Given the description of an element on the screen output the (x, y) to click on. 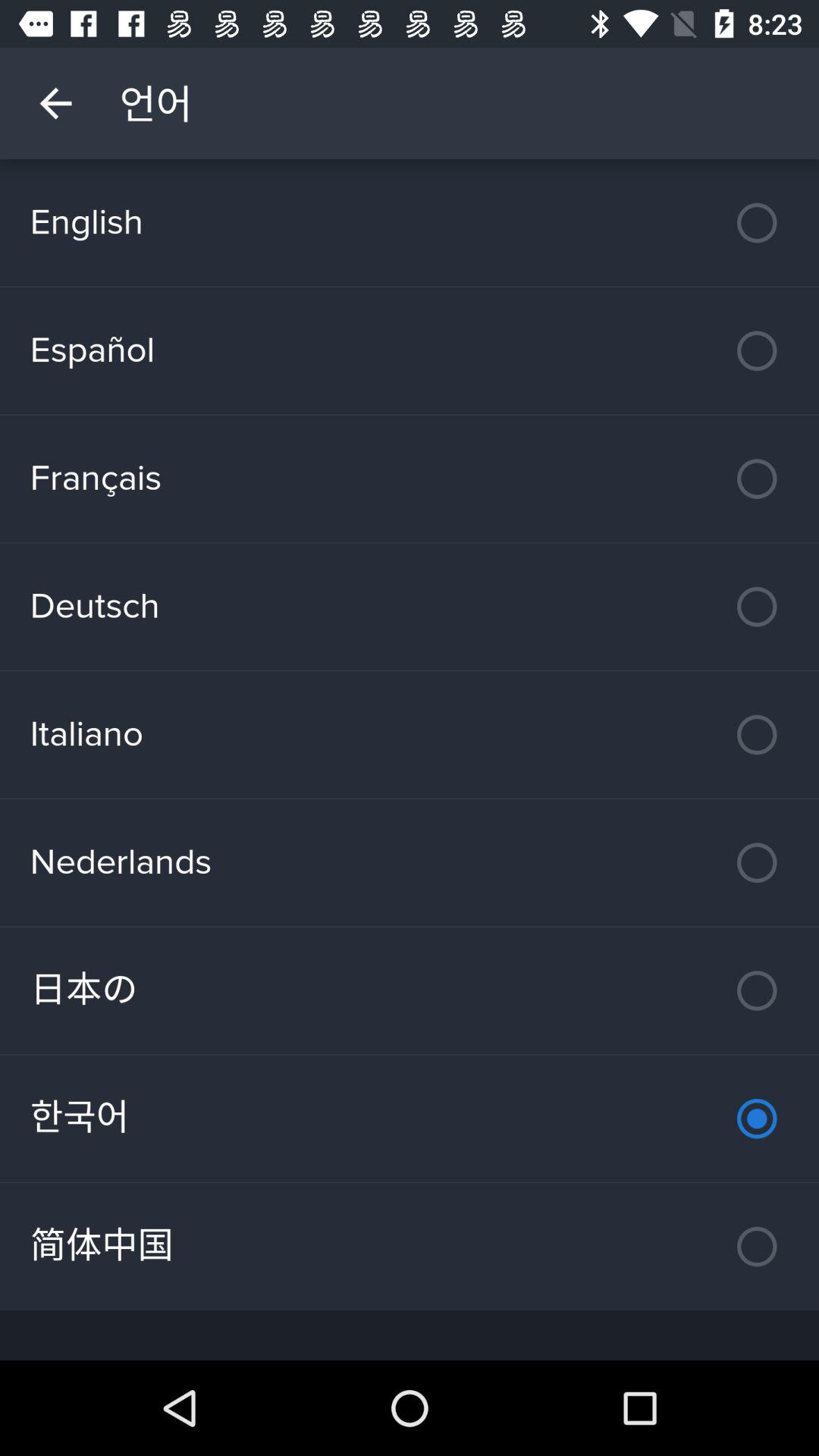
flip until the english (409, 222)
